Given the description of an element on the screen output the (x, y) to click on. 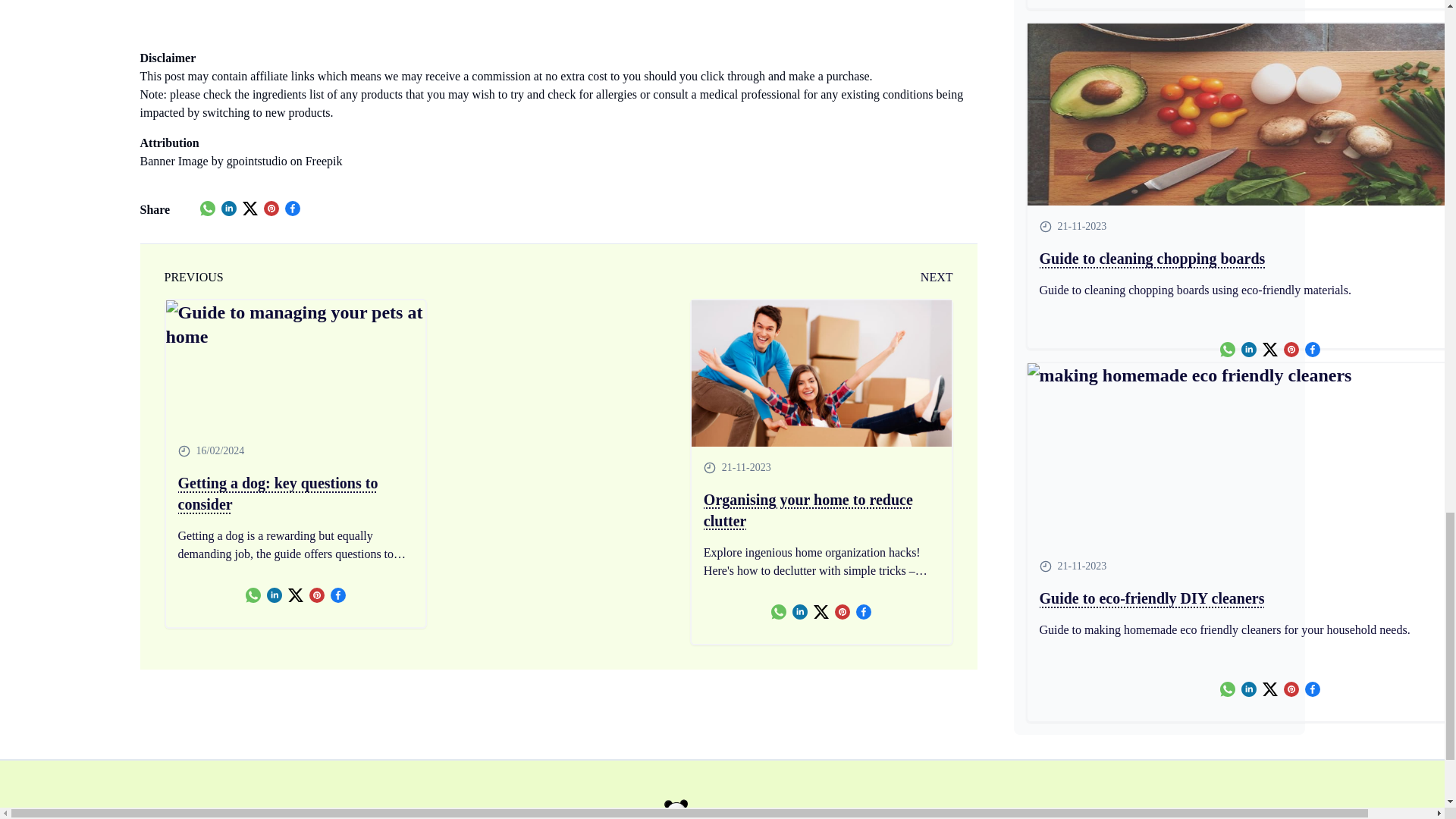
share on LinkedIn (274, 595)
share on X (295, 595)
Read more on Organising your home to reduce clutter (821, 373)
share on Facebook (338, 595)
share on Pininterest (316, 595)
share on Facebook (292, 208)
share on LinkedIn (228, 208)
Read more on Organising your home to reduce clutter (821, 509)
share on X (250, 208)
Read more on Getting a dog: key questions to consider (295, 493)
